Given the description of an element on the screen output the (x, y) to click on. 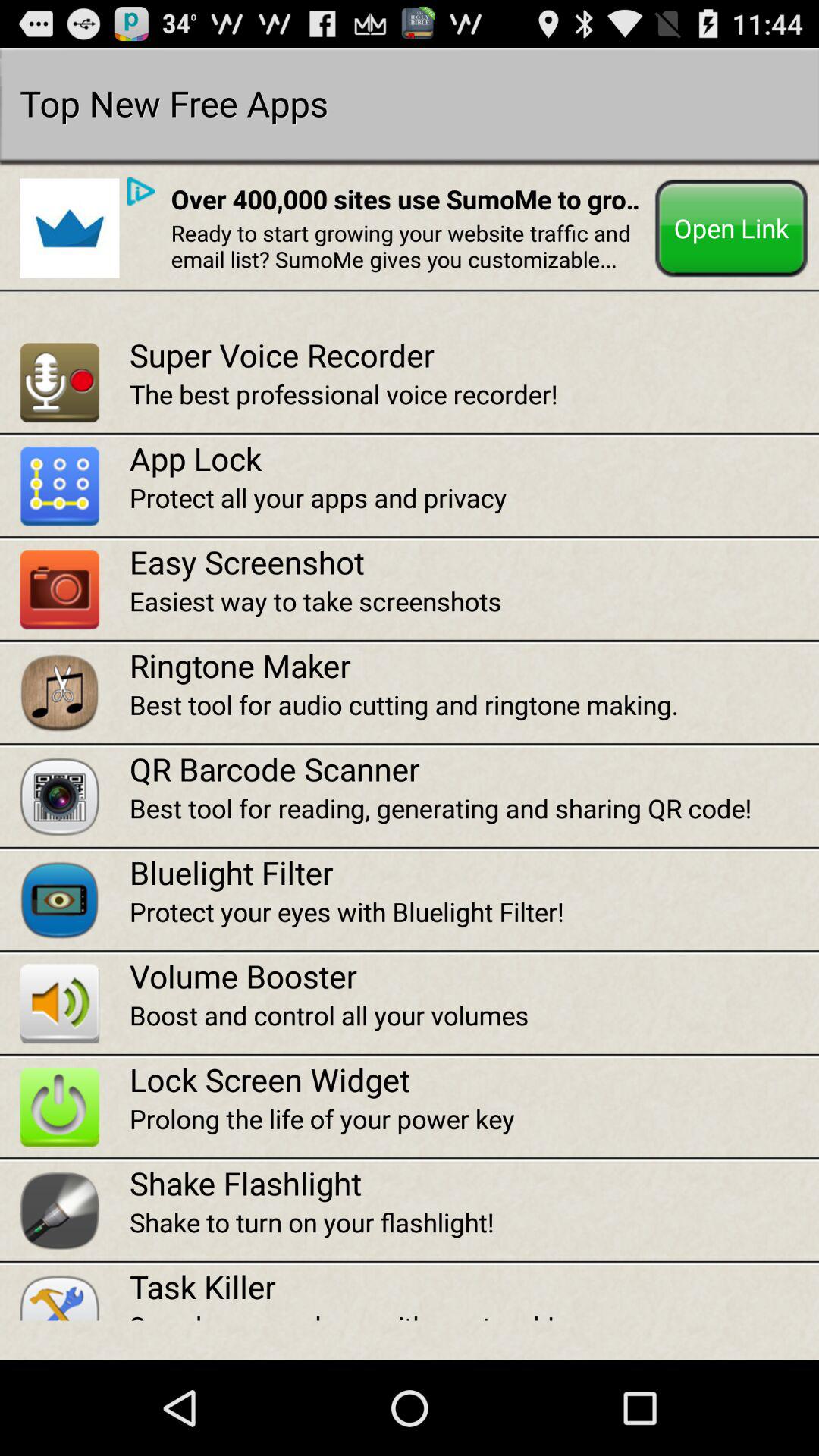
select the app below easiest way to (474, 665)
